Given the description of an element on the screen output the (x, y) to click on. 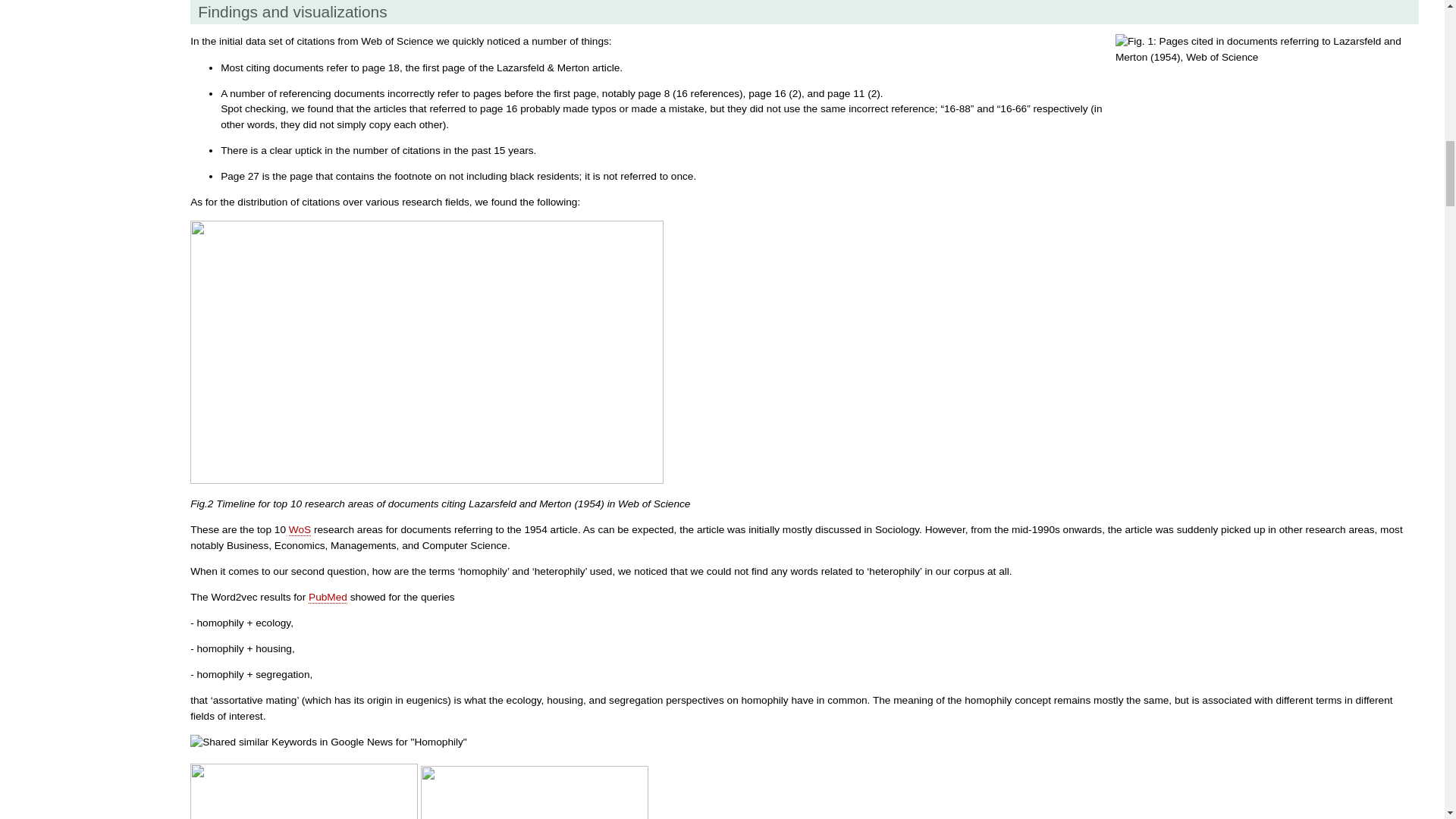
Create this topic (299, 530)
Create this topic (327, 597)
